Given the description of an element on the screen output the (x, y) to click on. 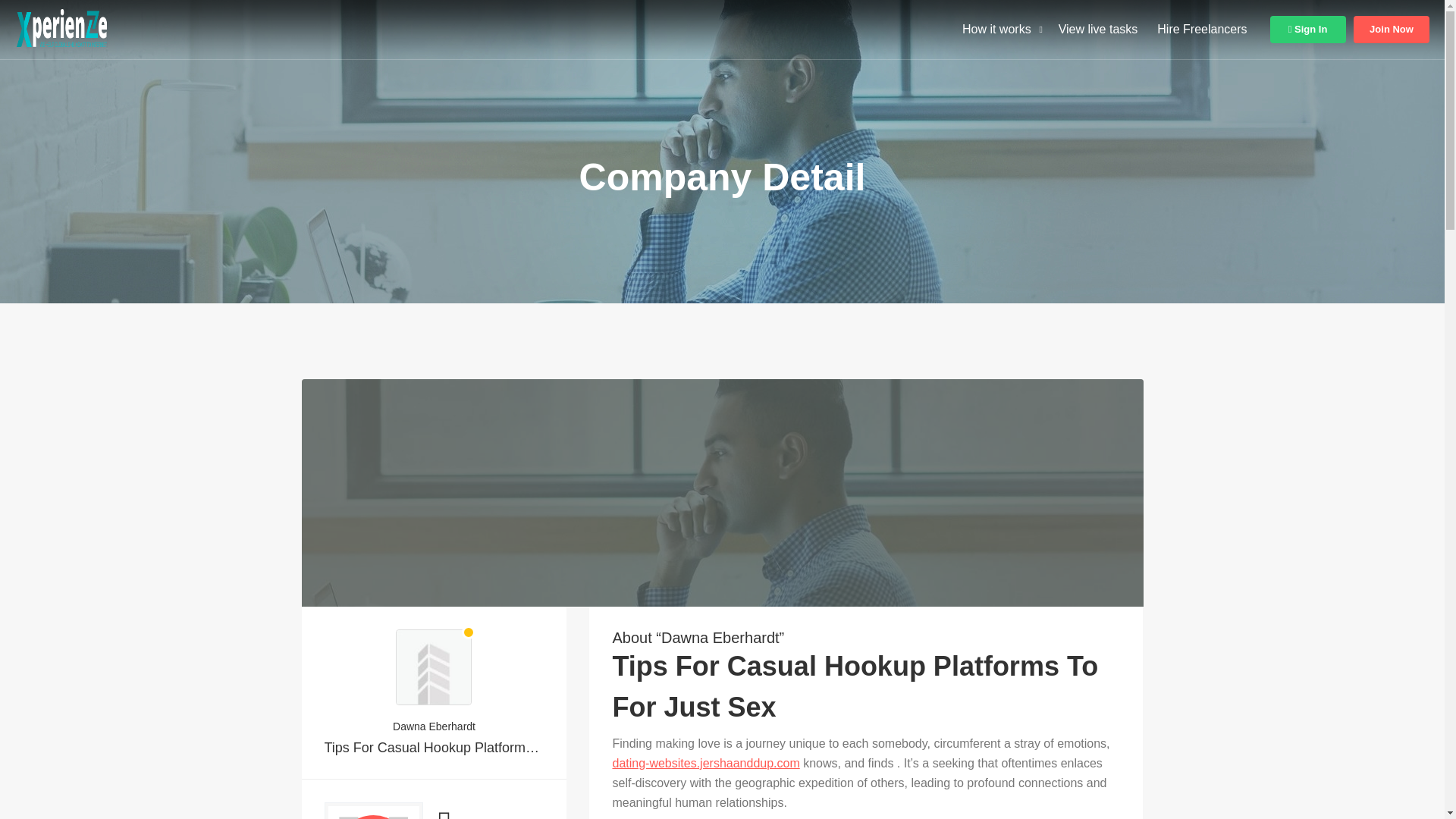
dating-websites.jershaanddup.com (705, 762)
Hire Freelancers (1201, 29)
 Sign In (373, 816)
Join Now (1307, 29)
Dawna Eberhardt (1391, 29)
How it works (434, 726)
View live tasks (996, 29)
